Given the description of an element on the screen output the (x, y) to click on. 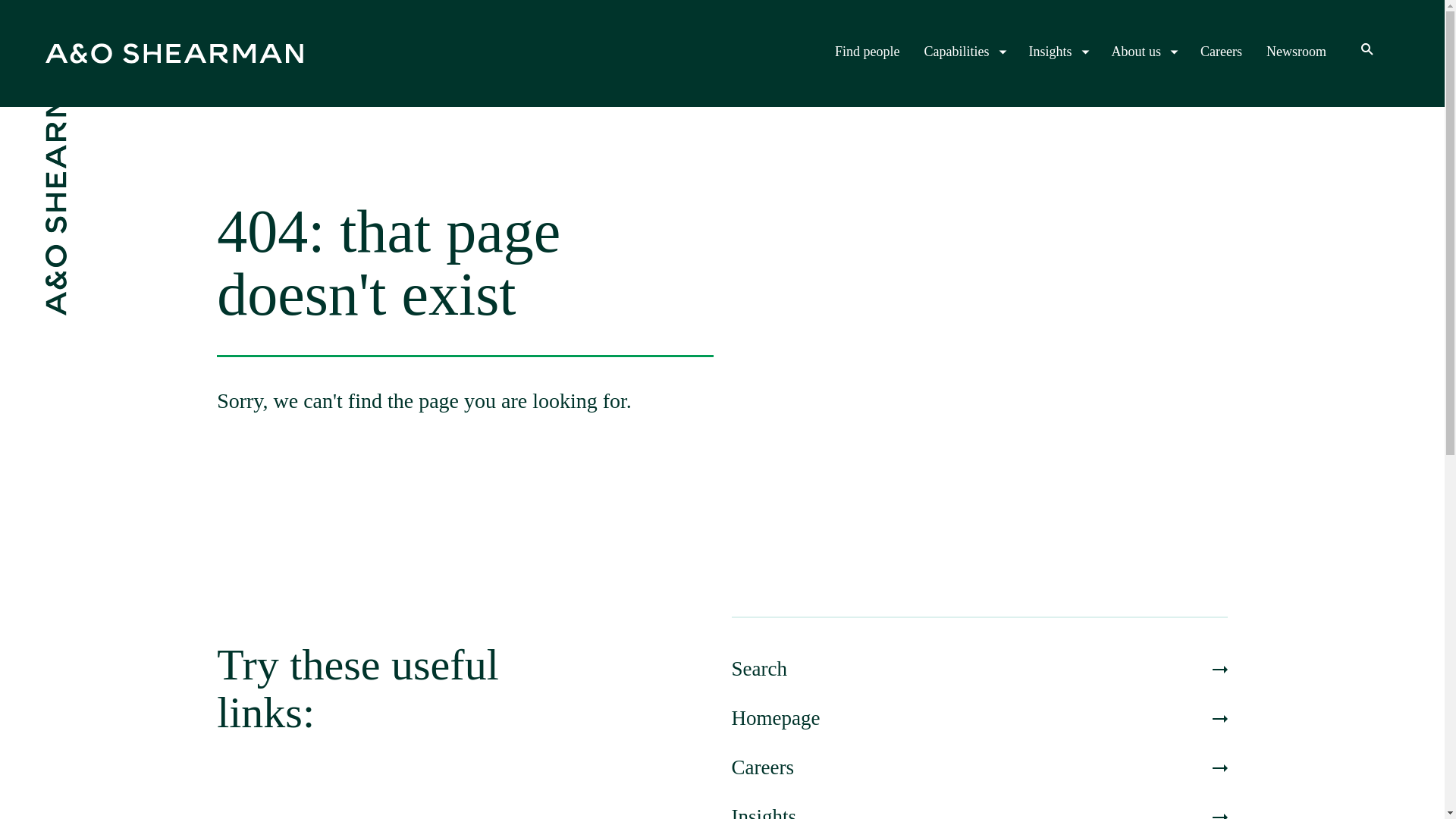
Insights (978, 811)
About us (1144, 51)
Homepage (978, 718)
Capabilities (964, 51)
Insights (1056, 51)
Careers (1220, 51)
Search (978, 668)
Find people (866, 51)
Newsroom (1296, 51)
Careers (978, 767)
